Given the description of an element on the screen output the (x, y) to click on. 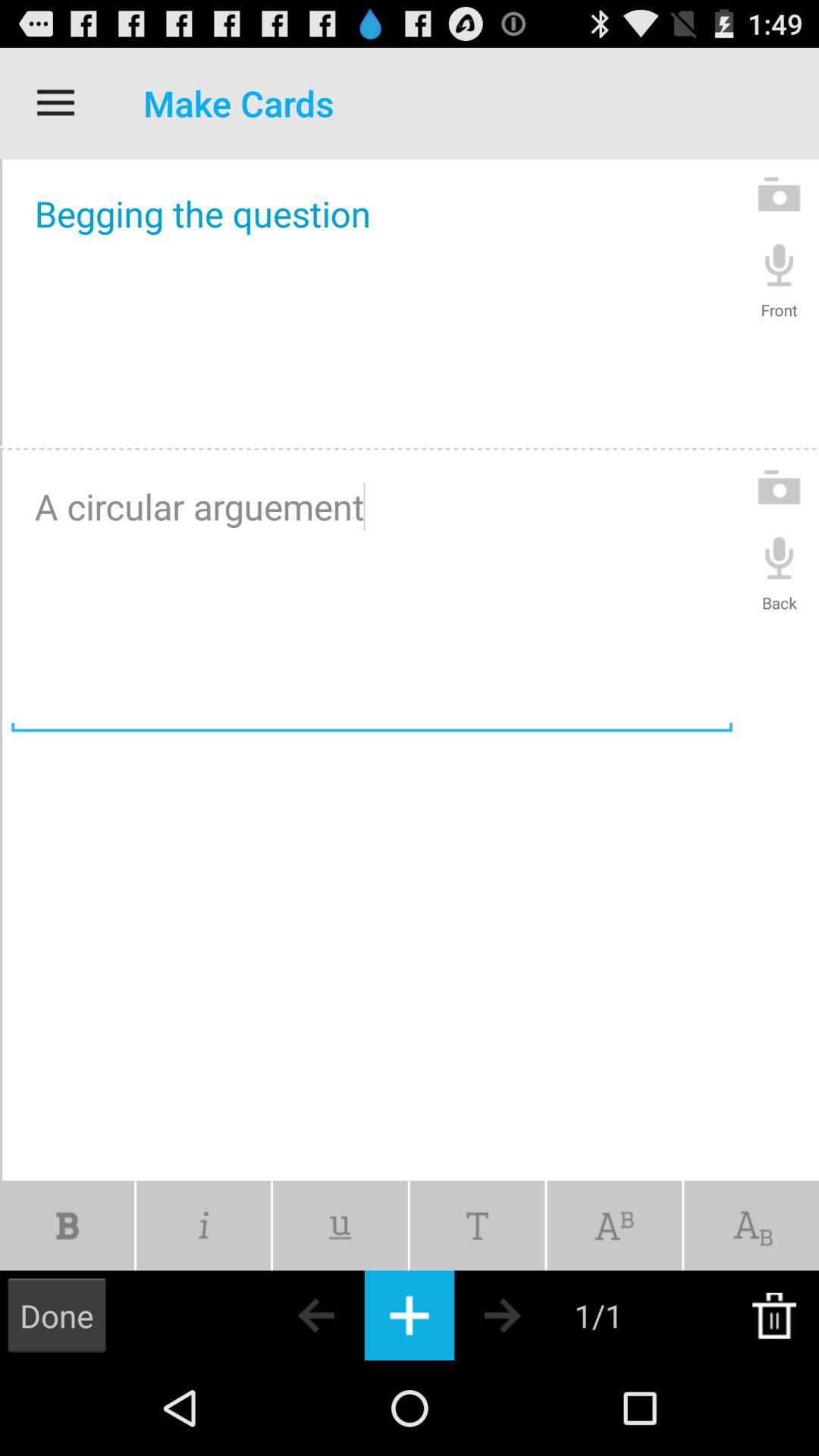
text options (477, 1225)
